Given the description of an element on the screen output the (x, y) to click on. 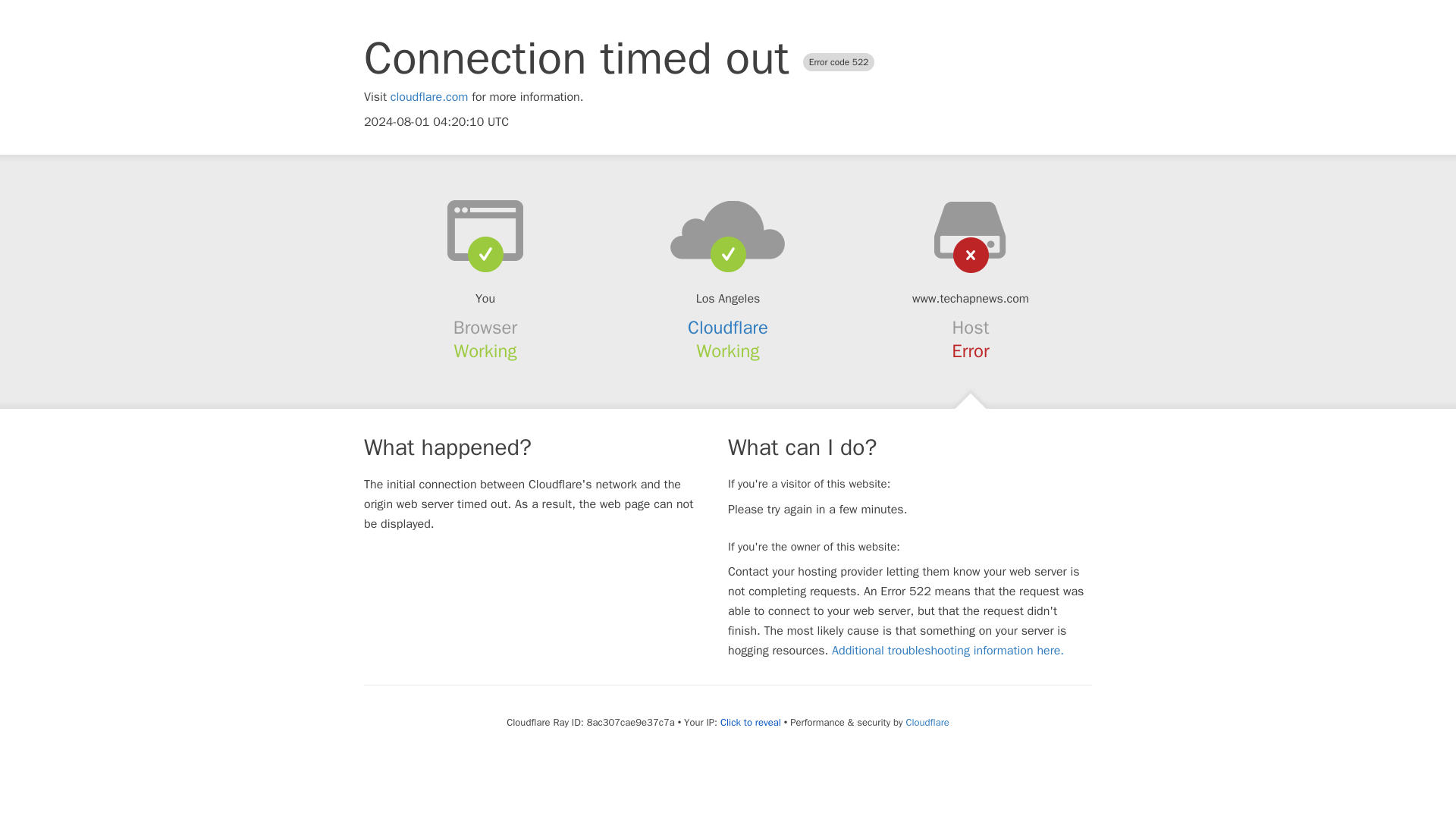
Cloudflare (727, 327)
Cloudflare (927, 721)
cloudflare.com (429, 96)
Additional troubleshooting information here. (947, 650)
Click to reveal (750, 722)
